Given the description of an element on the screen output the (x, y) to click on. 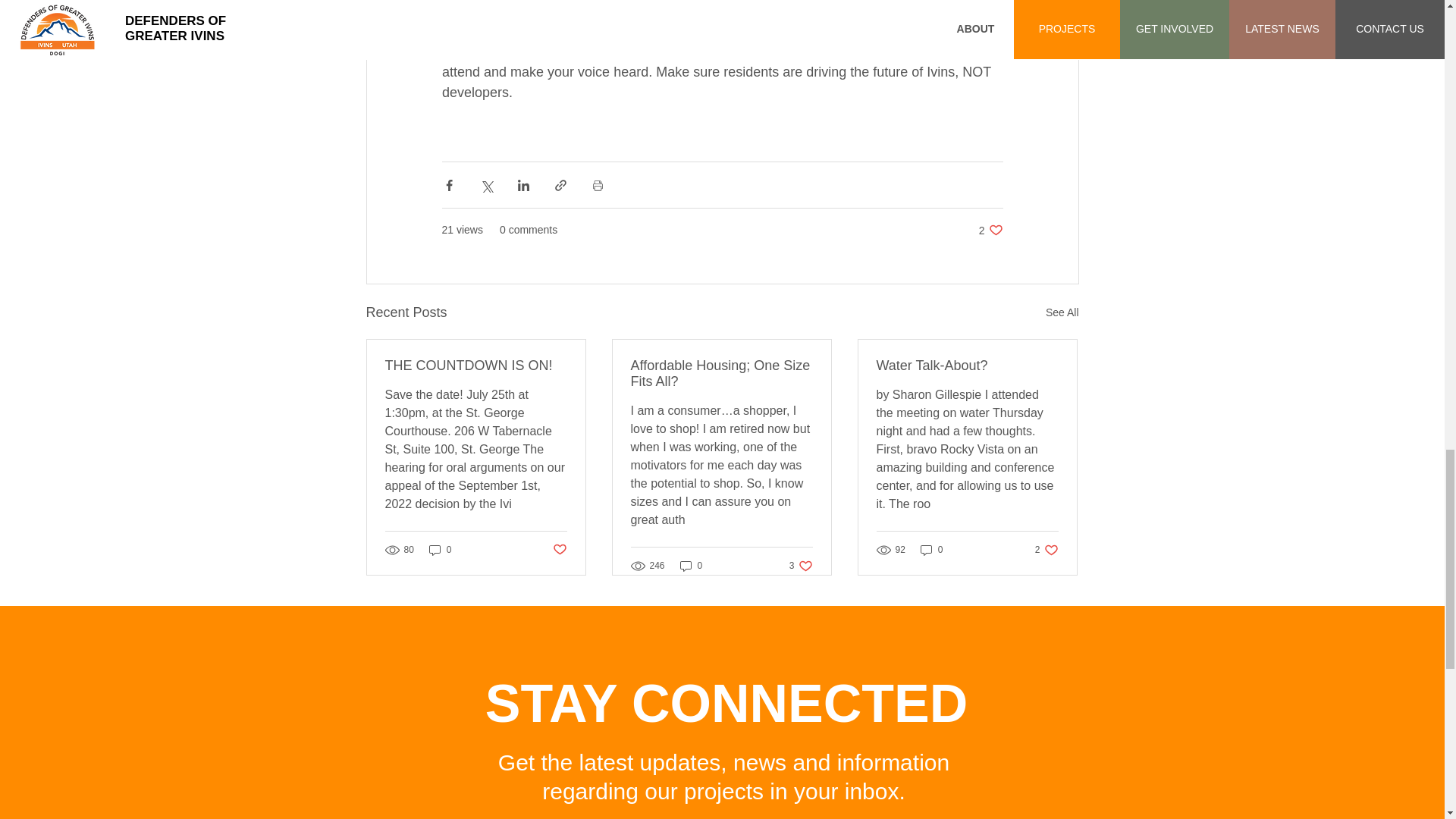
0 (1046, 549)
Affordable Housing; One Size Fits All? (931, 549)
Post not marked as liked (800, 564)
See All (721, 373)
THE COUNTDOWN IS ON! (558, 549)
0 (1061, 312)
0 (990, 229)
